Given the description of an element on the screen output the (x, y) to click on. 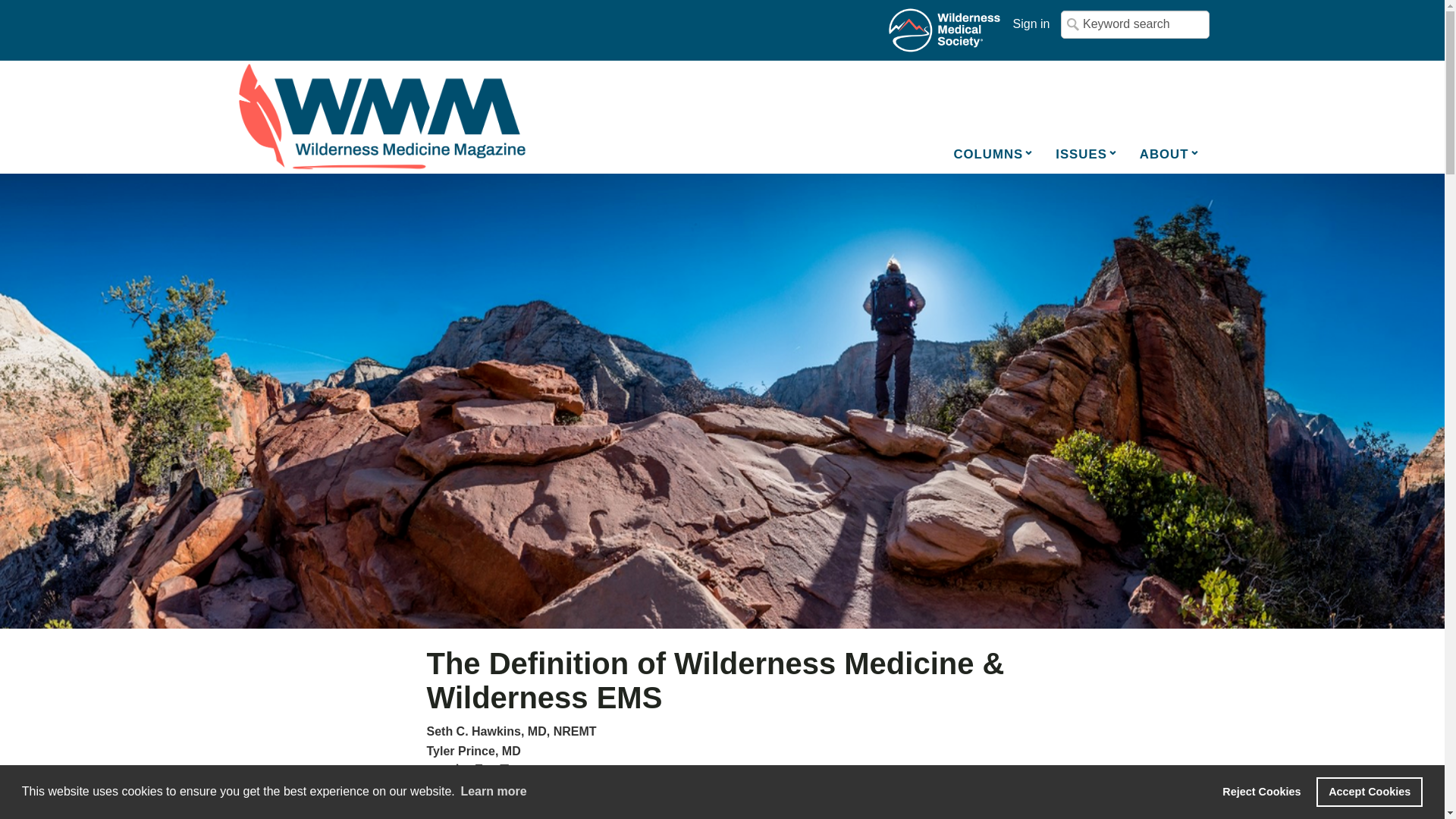
Learn more (493, 791)
WMS (945, 30)
Keyword search (1135, 24)
Sign in (1031, 24)
Reject Cookies (1261, 791)
ABOUT (1174, 153)
COLUMNS (998, 153)
Home (945, 30)
iMIS (380, 117)
ISSUES (1091, 153)
